Given the description of an element on the screen output the (x, y) to click on. 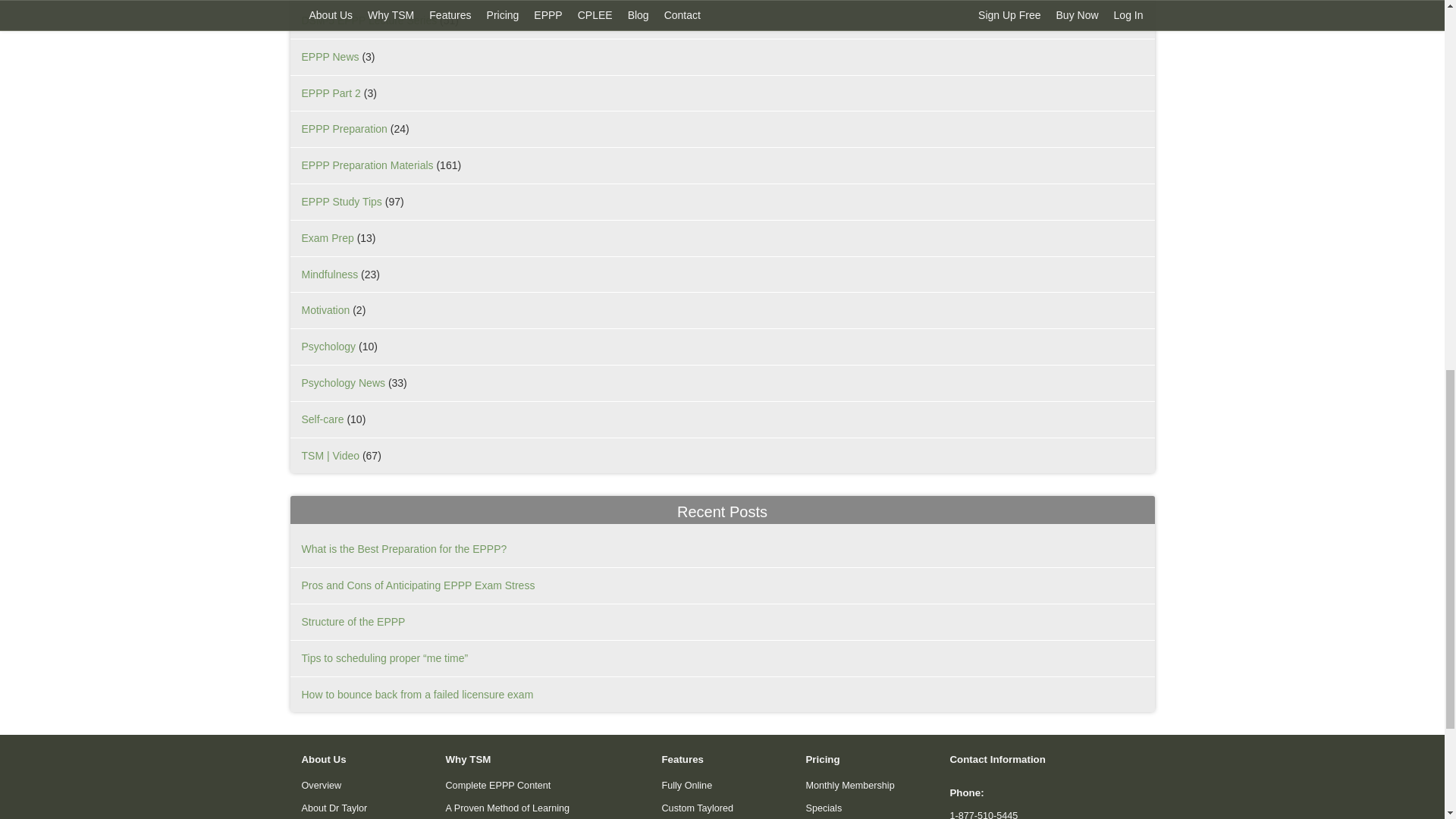
EPPP Study Tips (341, 201)
What is the Best Preparation for the EPPP? (403, 548)
Structure of the EPPP (353, 621)
EPPP Part 2 (331, 92)
Self-care (322, 419)
Pros and Cons of Anticipating EPPP Exam Stress (418, 585)
Psychology (328, 346)
EPPP Preparation Materials (367, 164)
Psychology News (343, 382)
Mindfulness (329, 274)
EPPP News (330, 56)
DSM-5 EPPP Lecture Series (369, 20)
EPPP Preparation (344, 128)
Exam Prep (327, 237)
Motivation (325, 309)
